Given the description of an element on the screen output the (x, y) to click on. 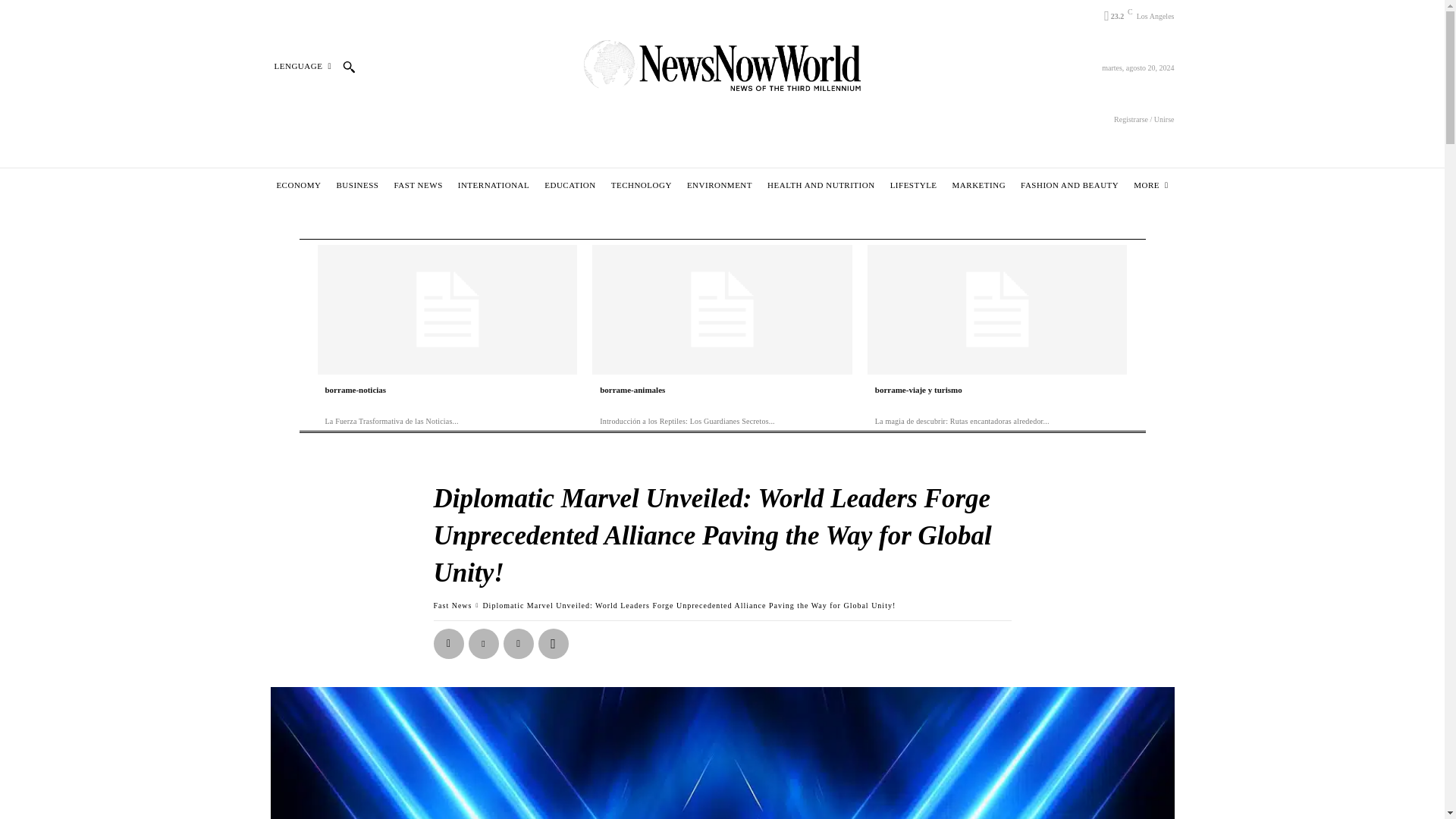
borrame-animales (632, 388)
LENGUAGE (301, 66)
Ver todas las publicaciones en Fast News (452, 605)
ENVIRONMENT (718, 185)
ECONOMY (298, 185)
INTERNATIONAL (493, 185)
Twitter (483, 643)
FASHION AND BEAUTY (1069, 185)
HEALTH AND NUTRITION (820, 185)
MORE (1150, 185)
